Given the description of an element on the screen output the (x, y) to click on. 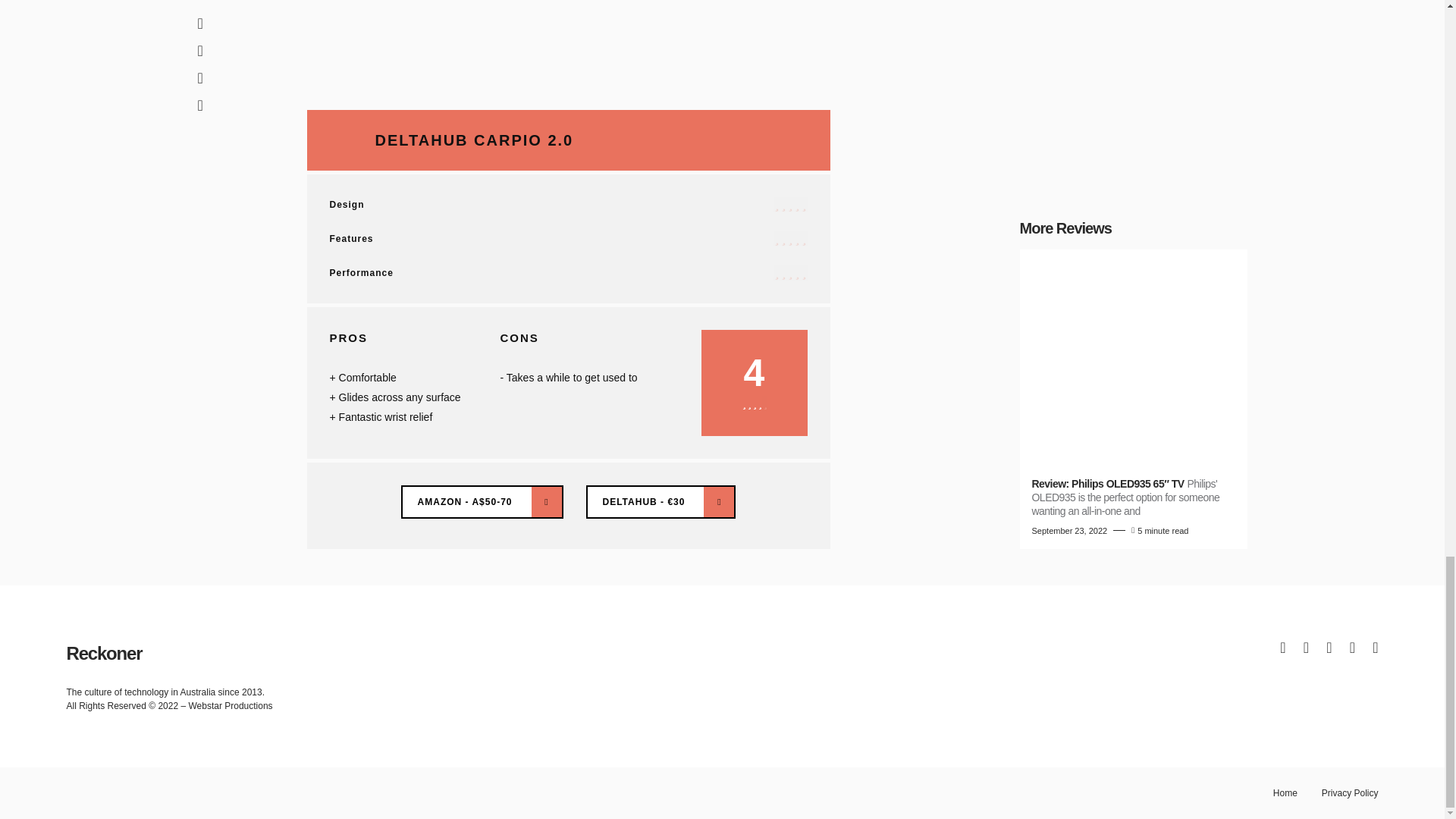
Home (1284, 792)
Wrist rest Carpio 2.0 - Official video (567, 38)
Webstar Productions (229, 706)
Privacy Policy (1350, 792)
Reckoner (104, 653)
